Given the description of an element on the screen output the (x, y) to click on. 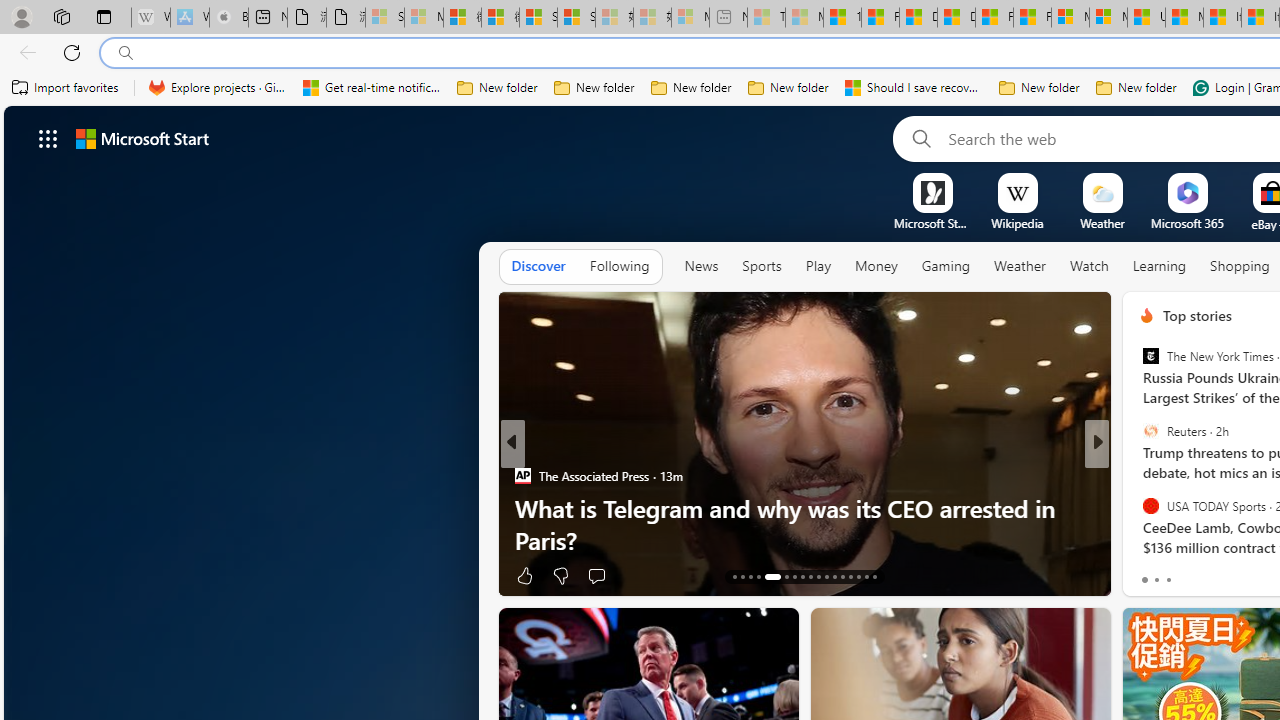
New folder (1136, 88)
View comments 460 Comment (1234, 575)
Ad (1142, 575)
News (701, 267)
115 Like (1151, 574)
421 Like (1151, 574)
Microsoft Start Gaming (932, 223)
Learning (1159, 265)
The New York Times (1149, 356)
Buy iPad - Apple - Sleeping (228, 17)
Learning (1159, 267)
AutomationID: tab-22 (818, 576)
AutomationID: tab-20 (801, 576)
Top stories (1196, 315)
Play (817, 265)
